Given the description of an element on the screen output the (x, y) to click on. 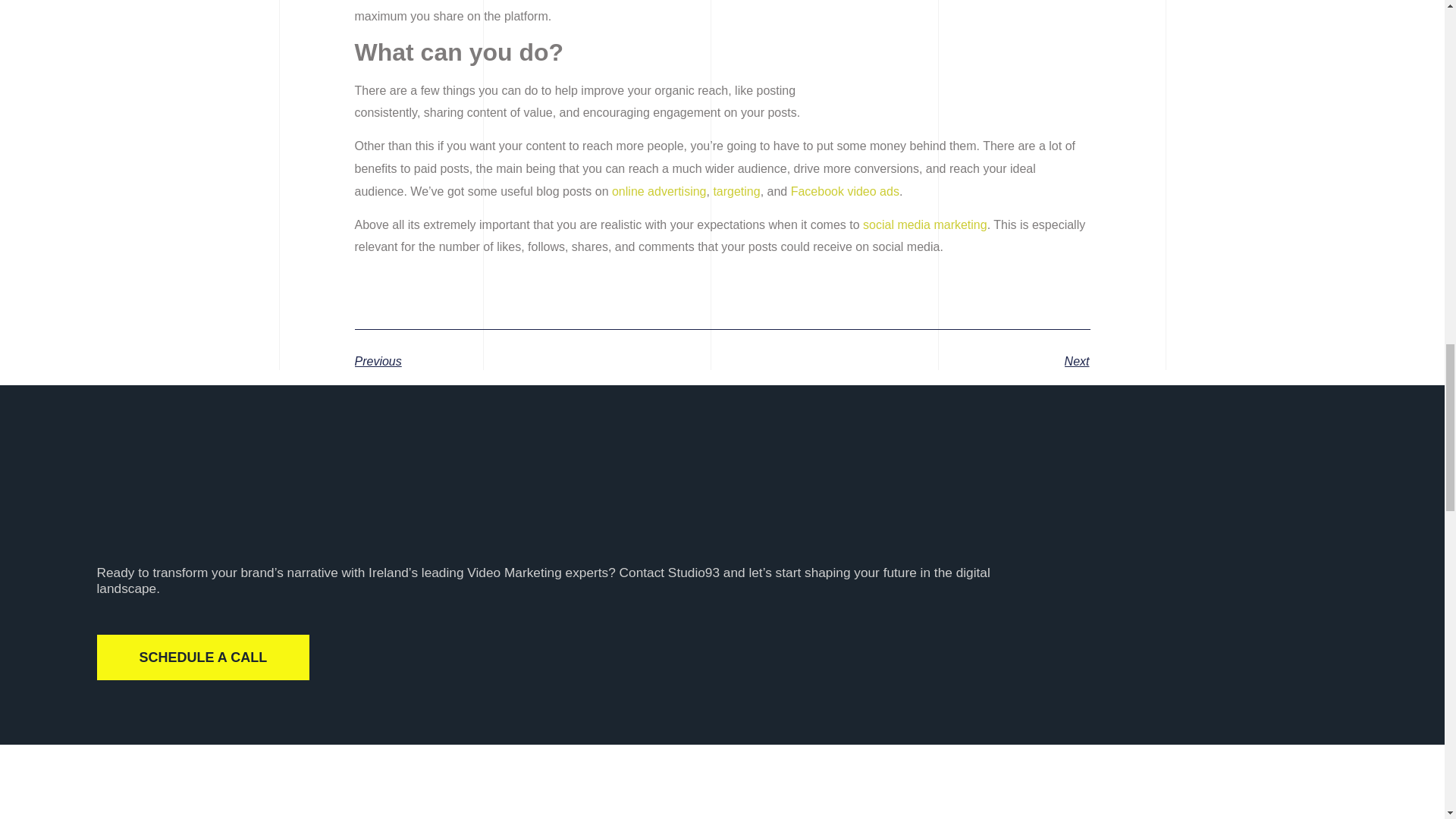
Next (905, 361)
Previous (538, 361)
online advertising (658, 191)
social media marketing (925, 224)
targeting (736, 191)
SCHEDULE A CALL (203, 657)
Facebook video ads (844, 191)
